Given the description of an element on the screen output the (x, y) to click on. 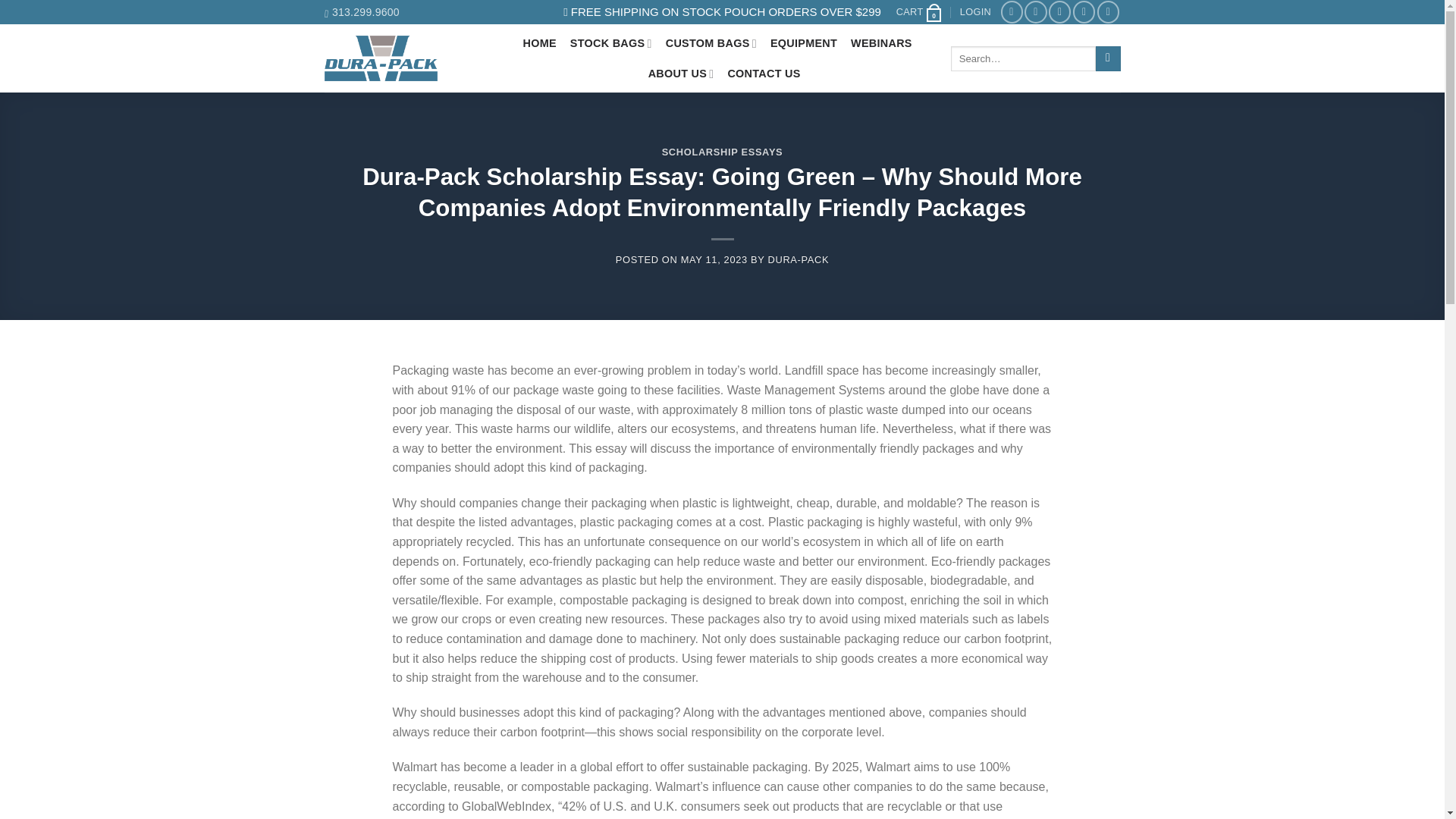
Cart (919, 12)
Follow on Facebook (1012, 11)
WEBINARS (881, 42)
STOCK BAGS (611, 42)
EQUIPMENT (803, 42)
CUSTOM BAGS (711, 42)
ABOUT US (680, 73)
Follow on Instagram (1035, 11)
313.299.9600 (361, 12)
Follow on YouTube (1108, 11)
